Given the description of an element on the screen output the (x, y) to click on. 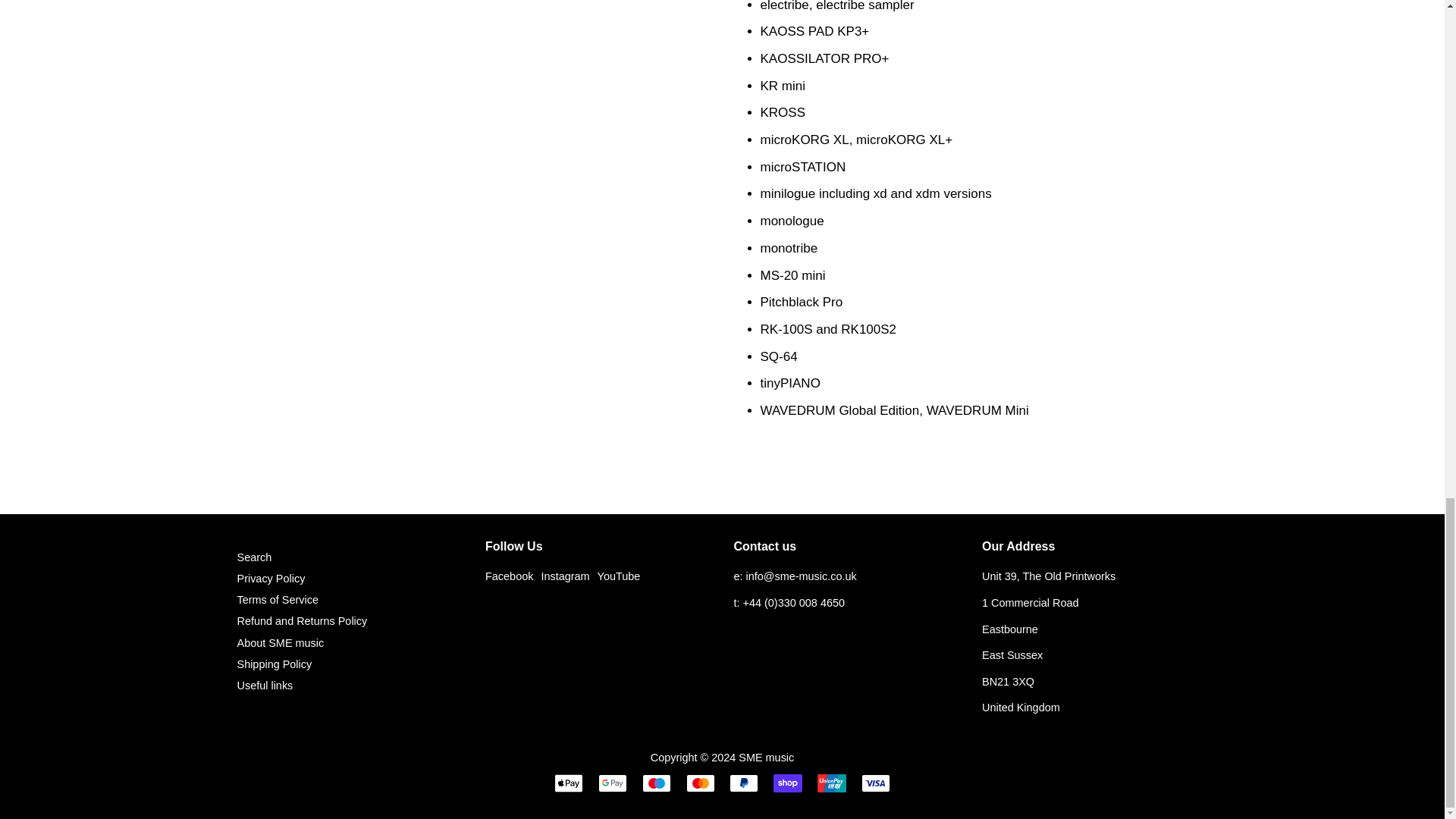
Useful links (263, 695)
Google Pay (612, 793)
About SME music (279, 653)
Visa (875, 793)
Search (252, 567)
Refund and Returns Policy (300, 631)
Apple Pay (568, 793)
Mastercard (699, 793)
Union Pay (830, 793)
PayPal (743, 793)
